Given the description of an element on the screen output the (x, y) to click on. 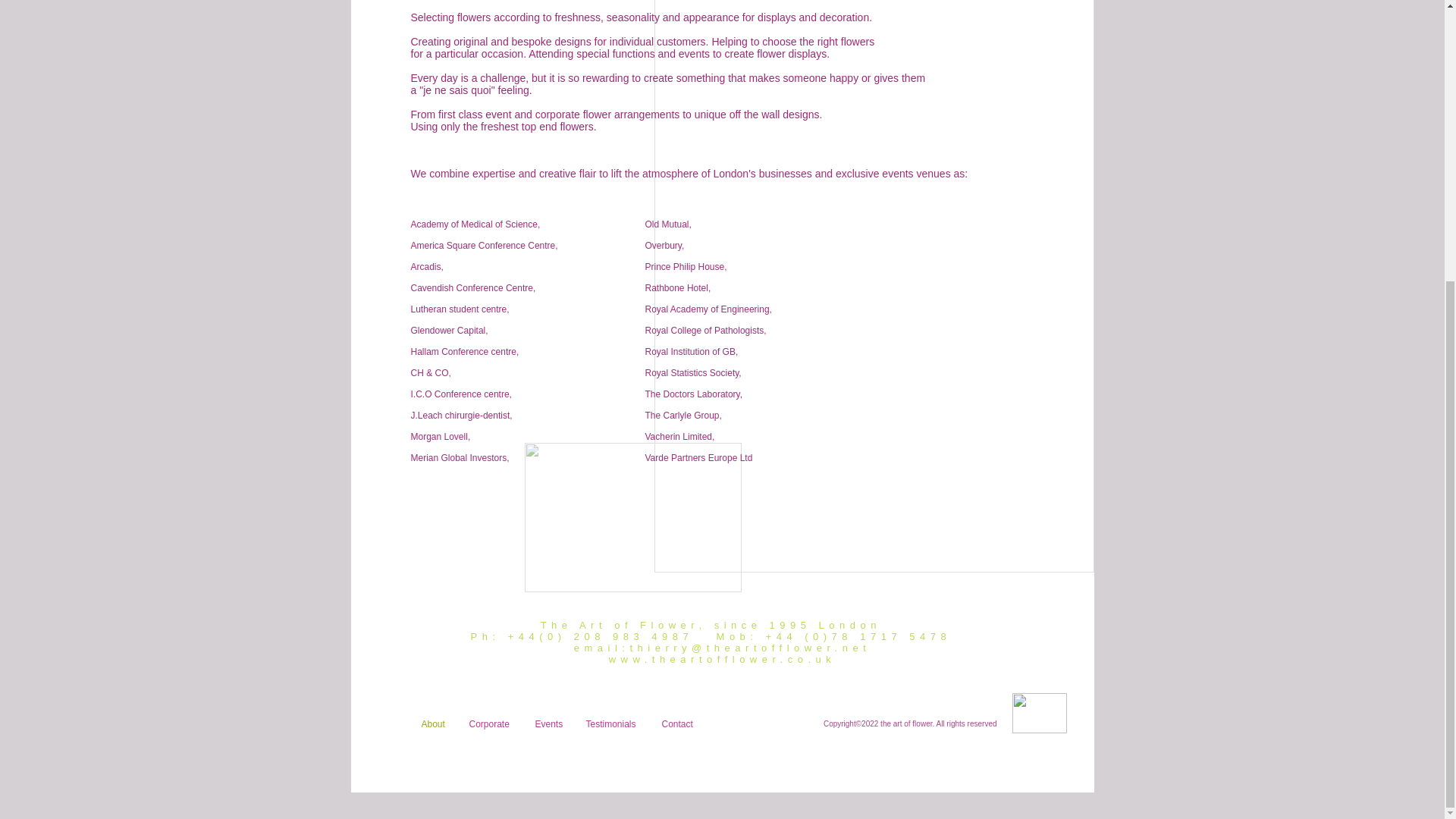
Corporate (491, 724)
Events (547, 724)
Testimonials (612, 724)
About (433, 724)
www.theartofflower.co.uk (721, 659)
Contact (678, 724)
